Given the description of an element on the screen output the (x, y) to click on. 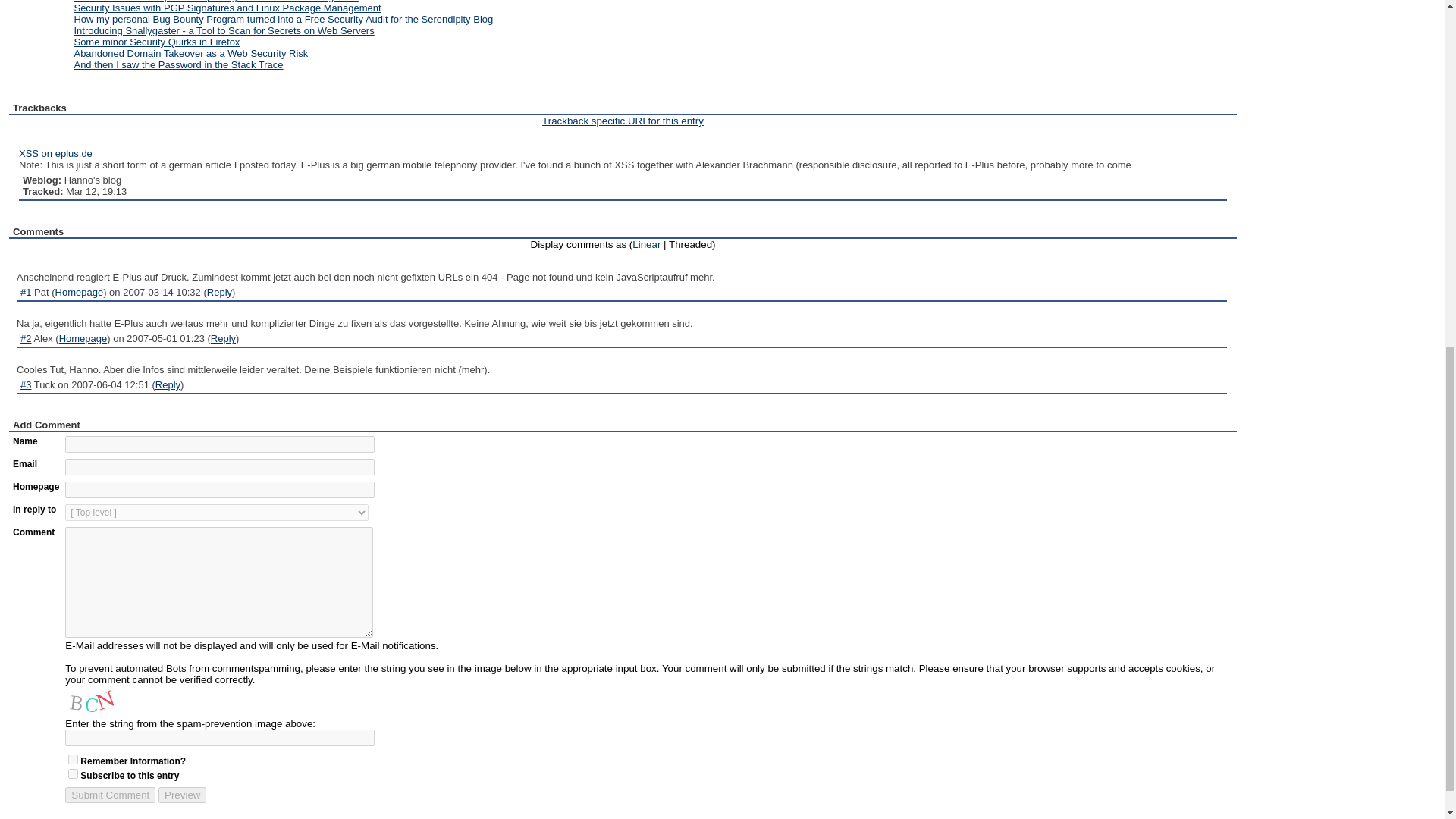
Abandoned Domain Takeover as a Web Security Risk (190, 52)
XSS on eplus.de (55, 153)
Some minor Security Quirks in Firefox (157, 41)
Linear (646, 244)
And then I saw the Password in the Stack Trace (178, 64)
Some minor Security Quirks in Firefox (157, 41)
Homepage (79, 292)
